Given the description of an element on the screen output the (x, y) to click on. 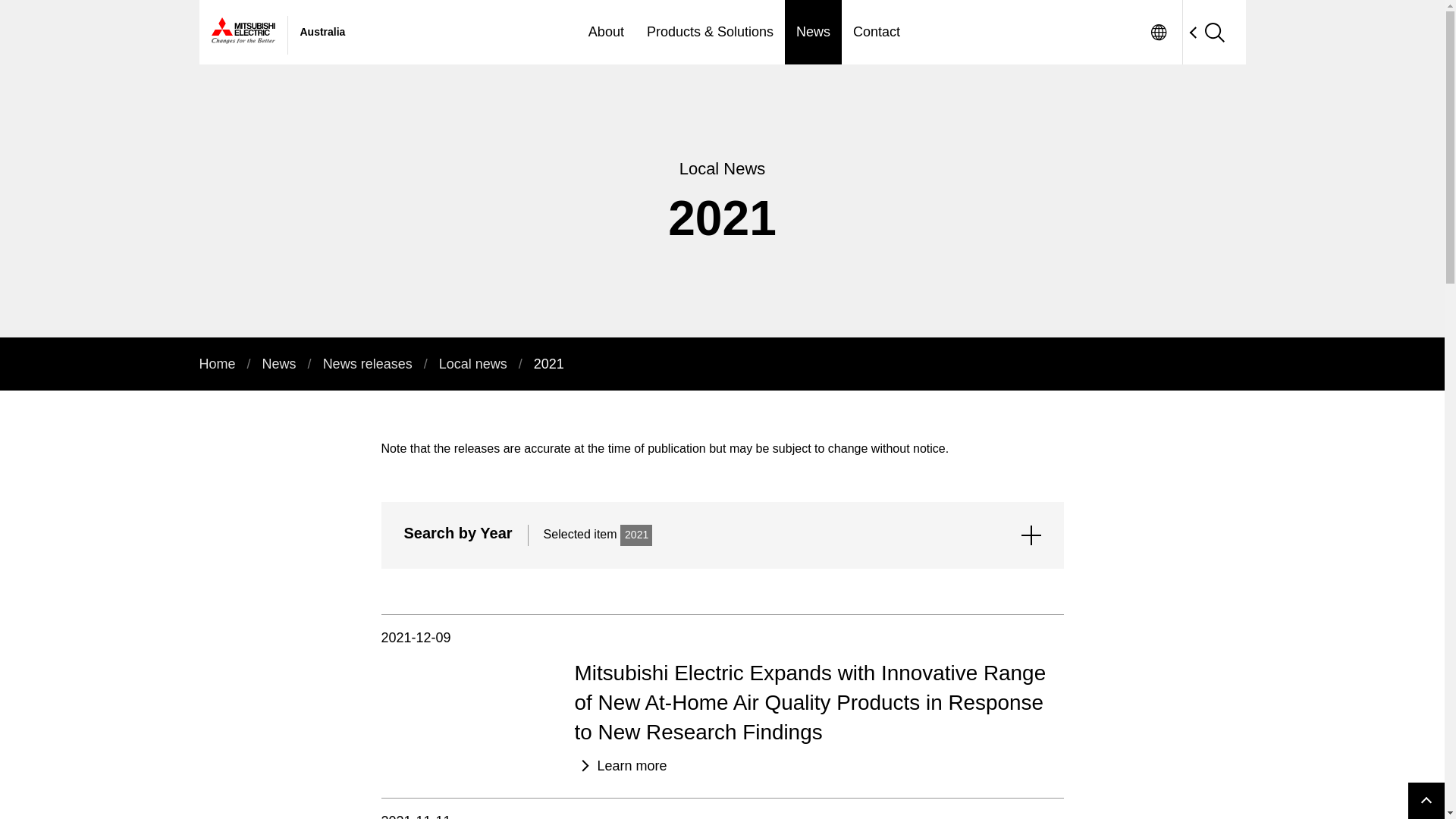
Global Sites (1158, 32)
About (605, 32)
